Given the description of an element on the screen output the (x, y) to click on. 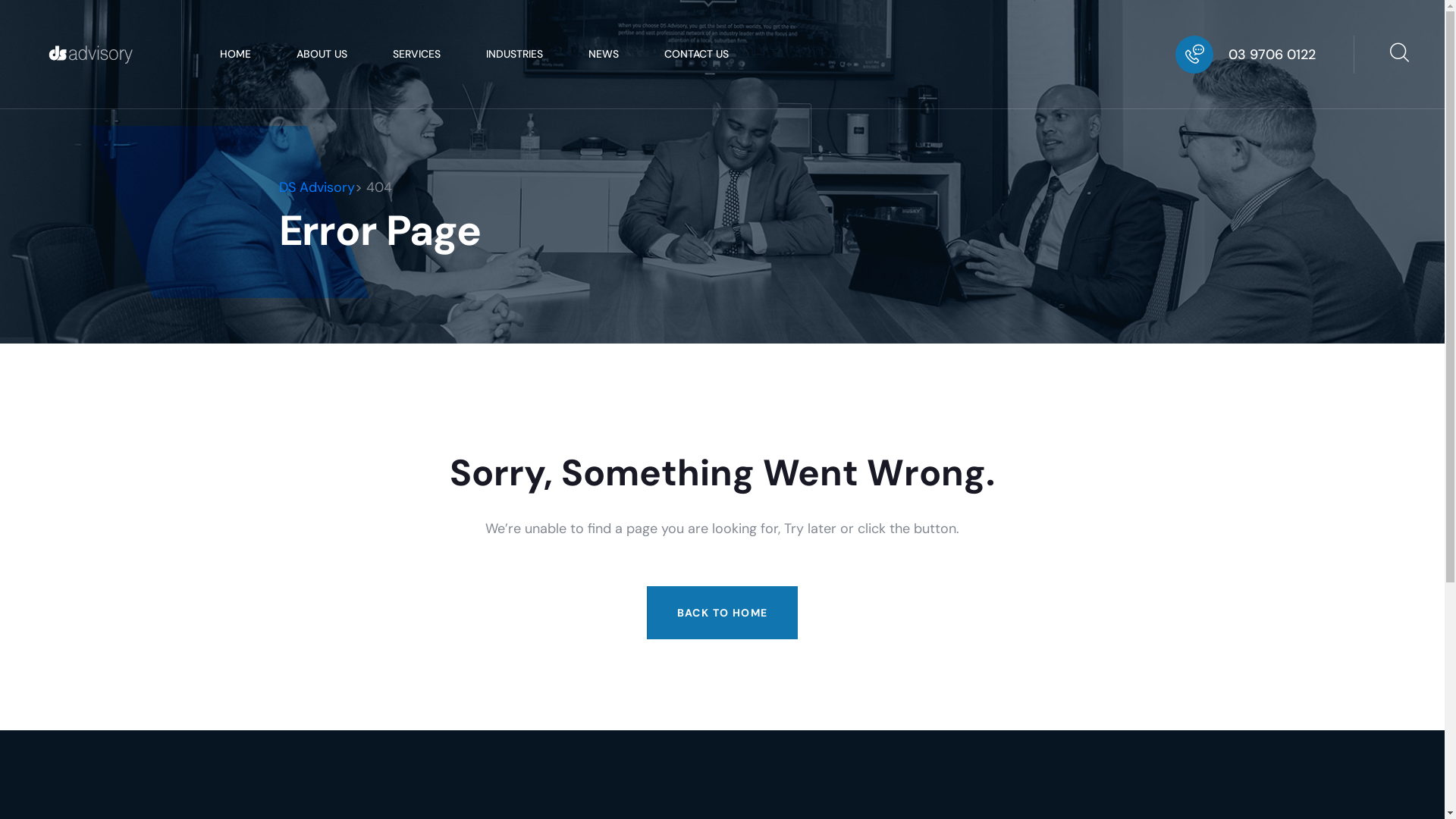
NEWS Element type: text (603, 54)
SERVICES Element type: text (416, 54)
ABOUT US Element type: text (321, 54)
HOME Element type: text (235, 54)
INDUSTRIES Element type: text (514, 54)
03 9706 0122 Element type: text (1271, 54)
BACK TO HOME Element type: text (722, 611)
DS Advisory Element type: text (316, 187)
CONTACT US Element type: text (696, 54)
